Given the description of an element on the screen output the (x, y) to click on. 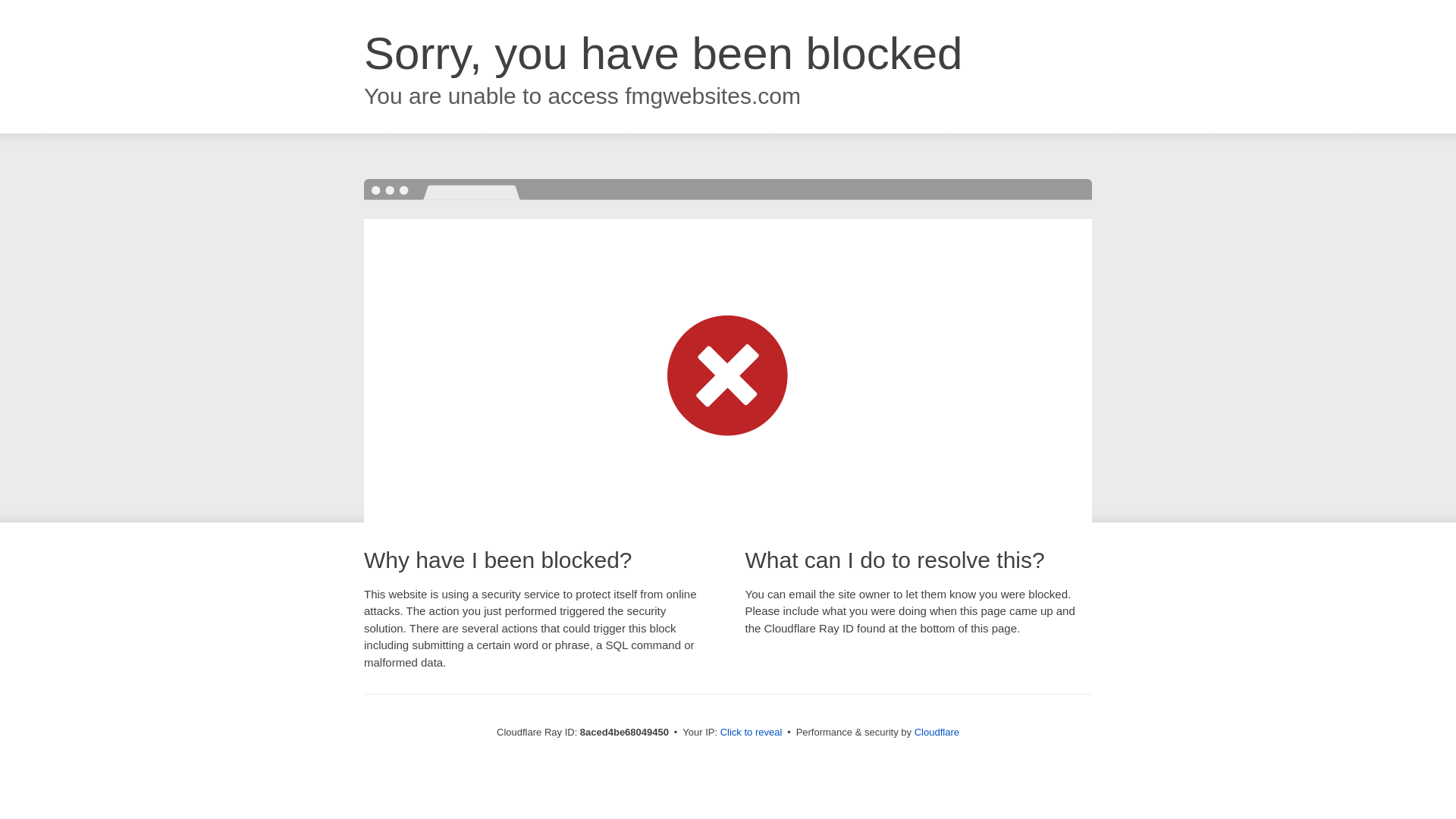
Cloudflare (936, 731)
Click to reveal (751, 732)
